Given the description of an element on the screen output the (x, y) to click on. 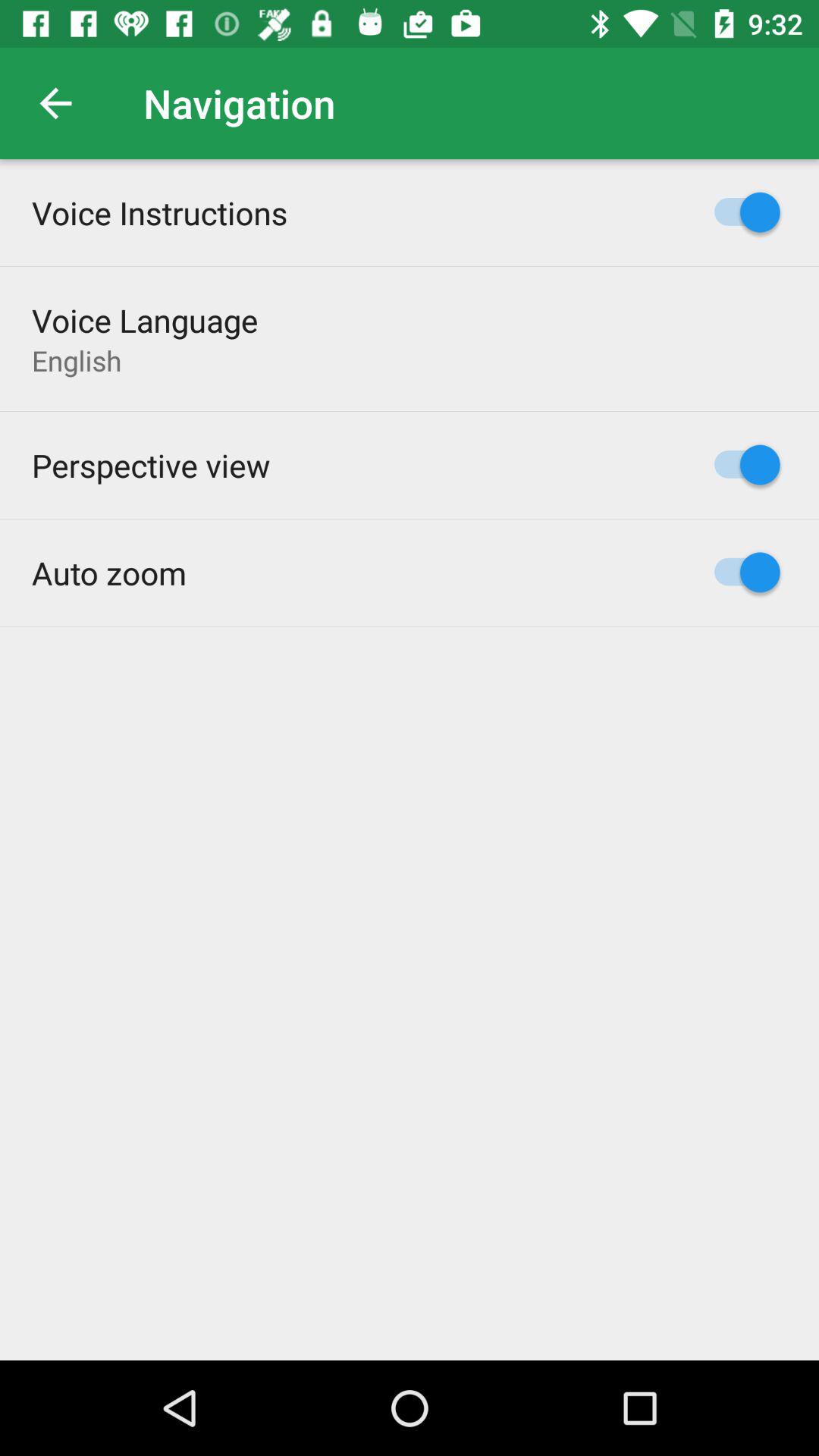
tap the auto zoom on the left (108, 572)
